Given the description of an element on the screen output the (x, y) to click on. 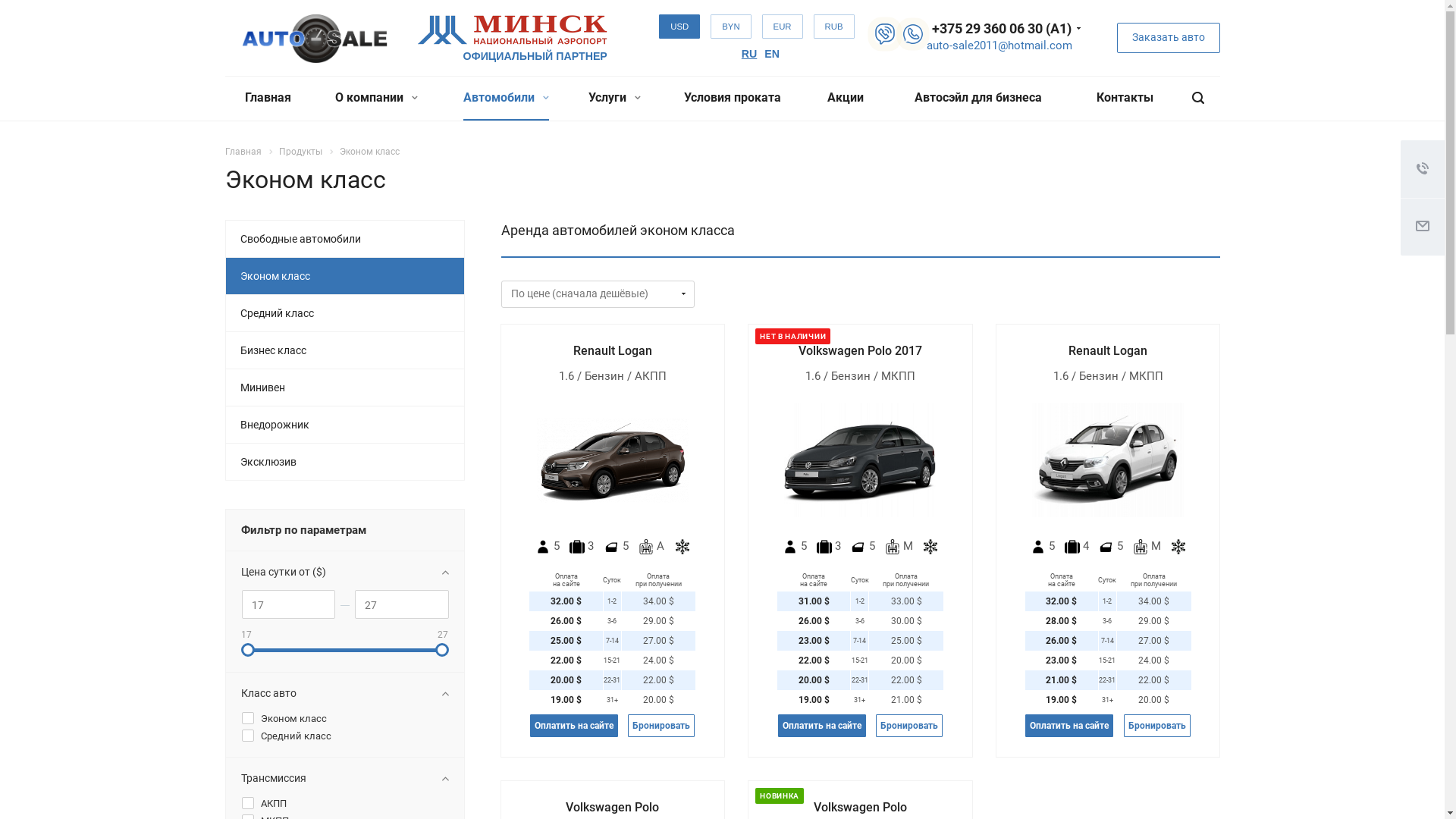
Renault Logan Element type: text (612, 350)
auto-sale2011@hotmail.com Element type: text (999, 45)
Volkswagen Polo 2017 Element type: hover (859, 459)
Volkswagen Polo Element type: text (611, 807)
Y Element type: text (4, 4)
Volkswagen Polo Element type: text (859, 807)
EN Element type: text (771, 53)
Renault Logan Element type: text (1107, 350)
Renault Logan Element type: hover (1107, 459)
Renault Logan Element type: hover (612, 459)
RU Element type: text (749, 53)
Volkswagen Polo 2017 Element type: text (860, 350)
